Given the description of an element on the screen output the (x, y) to click on. 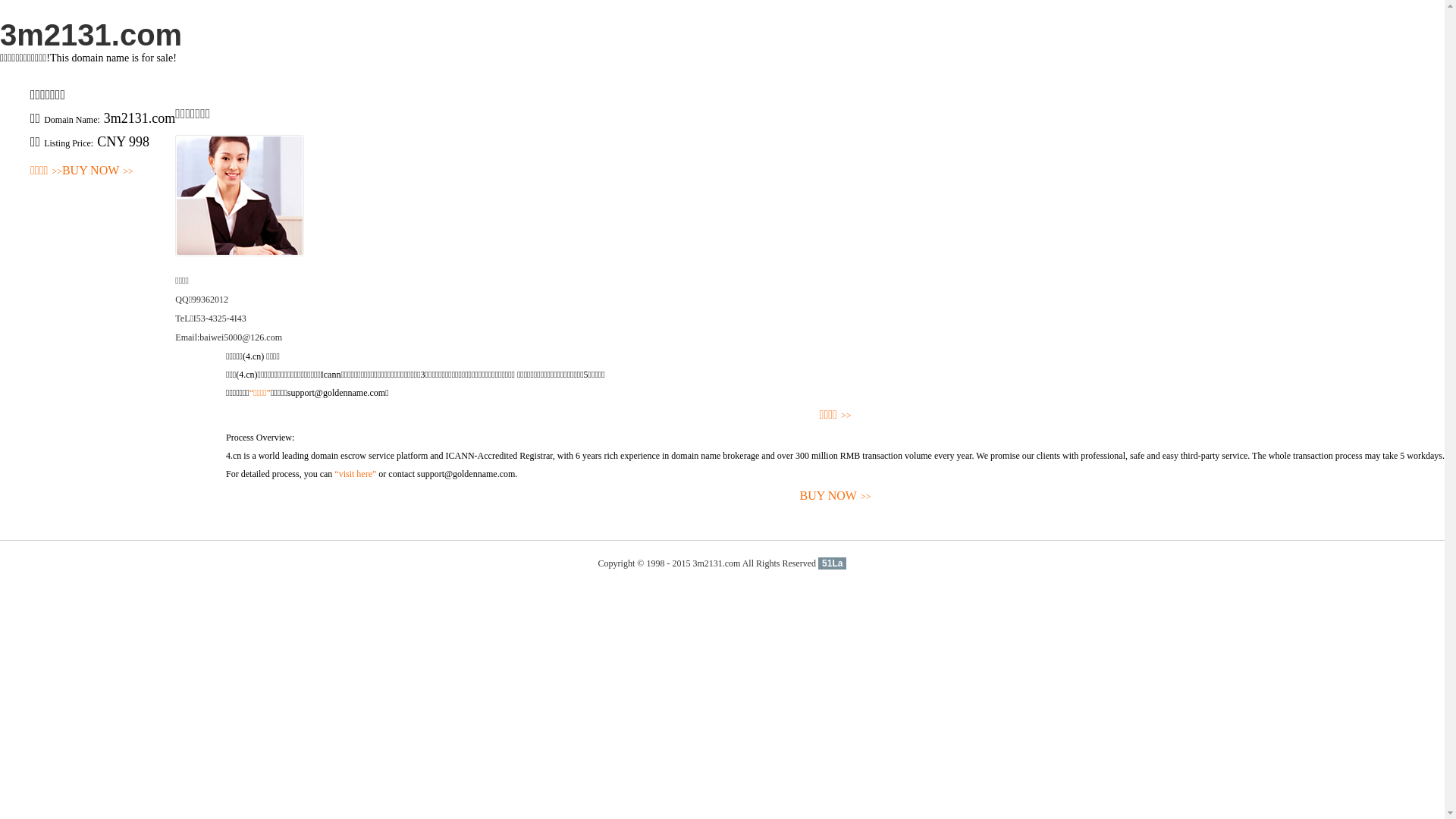
BUY NOW>> Element type: text (834, 496)
51La Element type: text (832, 563)
BUY NOW>> Element type: text (97, 170)
